Given the description of an element on the screen output the (x, y) to click on. 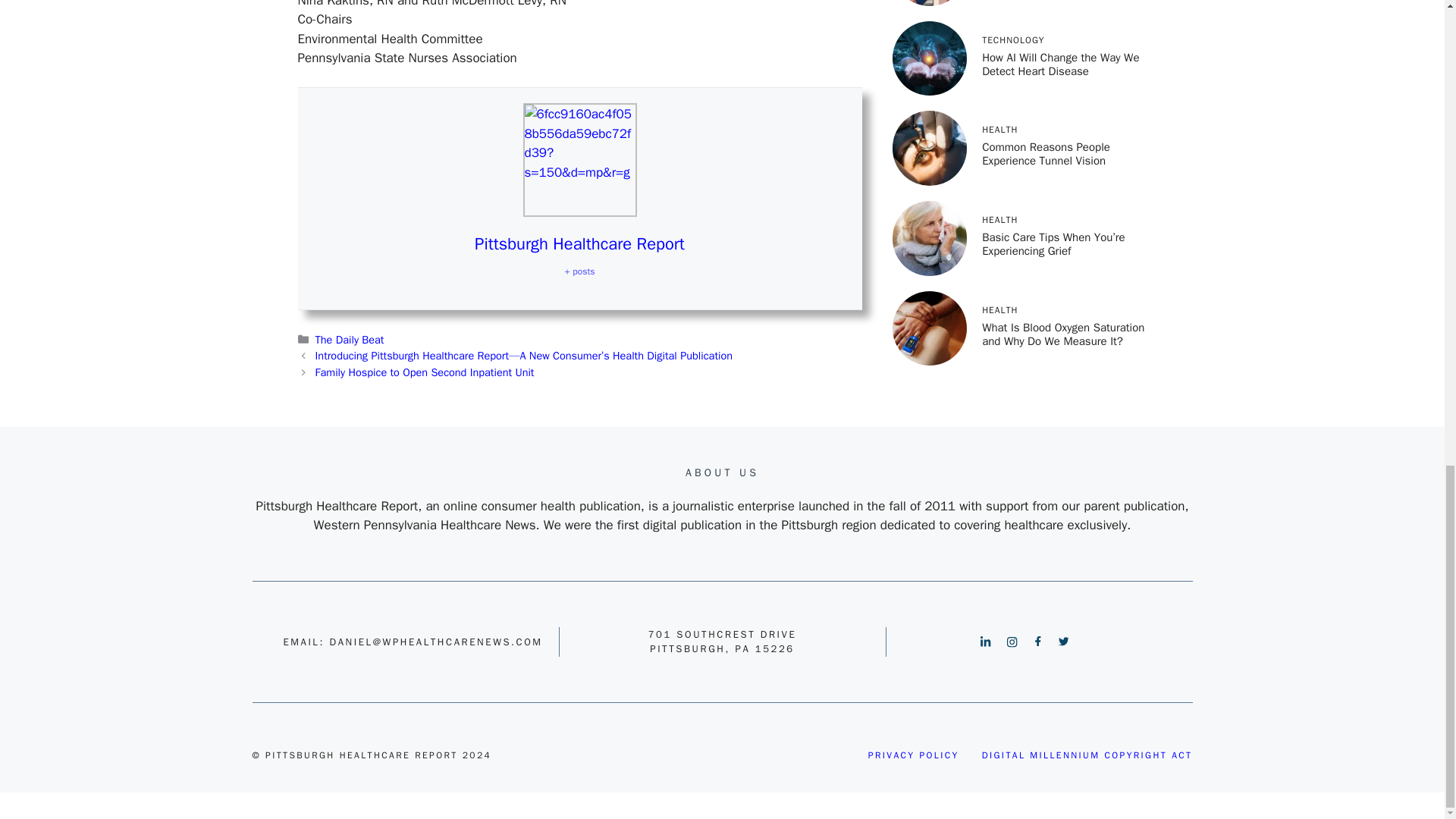
Common Reasons People Experience Tunnel Vision (1045, 6)
Pittsburgh Healthcare Report (579, 243)
Family Hospice to Open Second Inpatient Unit (424, 372)
The Daily Beat (349, 339)
What Is Blood Oxygen Saturation and Why Do We Measure It? (1062, 178)
